Given the description of an element on the screen output the (x, y) to click on. 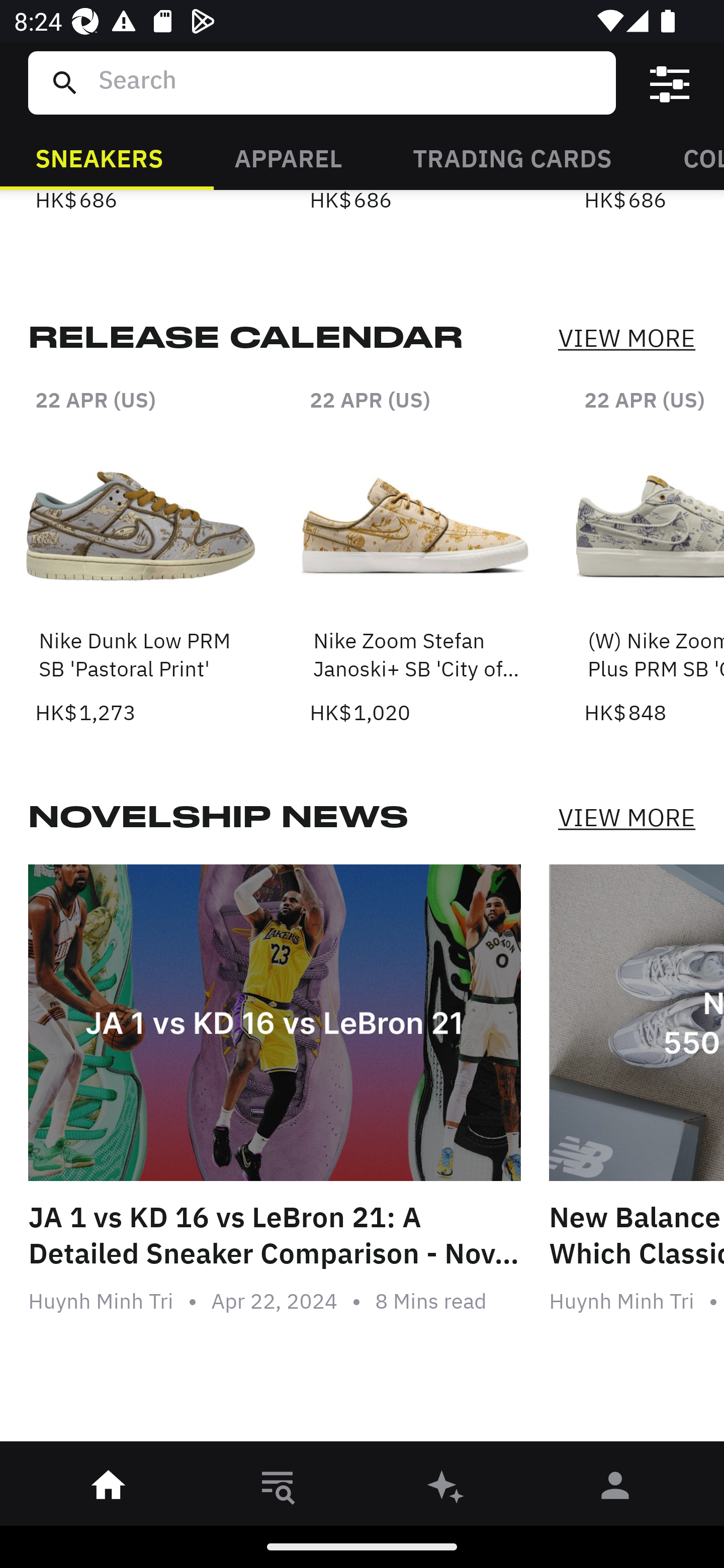
Search (349, 82)
 (669, 82)
SNEAKERS (99, 156)
APPAREL (287, 156)
TRADING CARDS (512, 156)
VIEW MORE (626, 338)
VIEW MORE (626, 816)
󰋜 (108, 1488)
󱎸 (277, 1488)
󰫢 (446, 1488)
󰀄 (615, 1488)
